Given the description of an element on the screen output the (x, y) to click on. 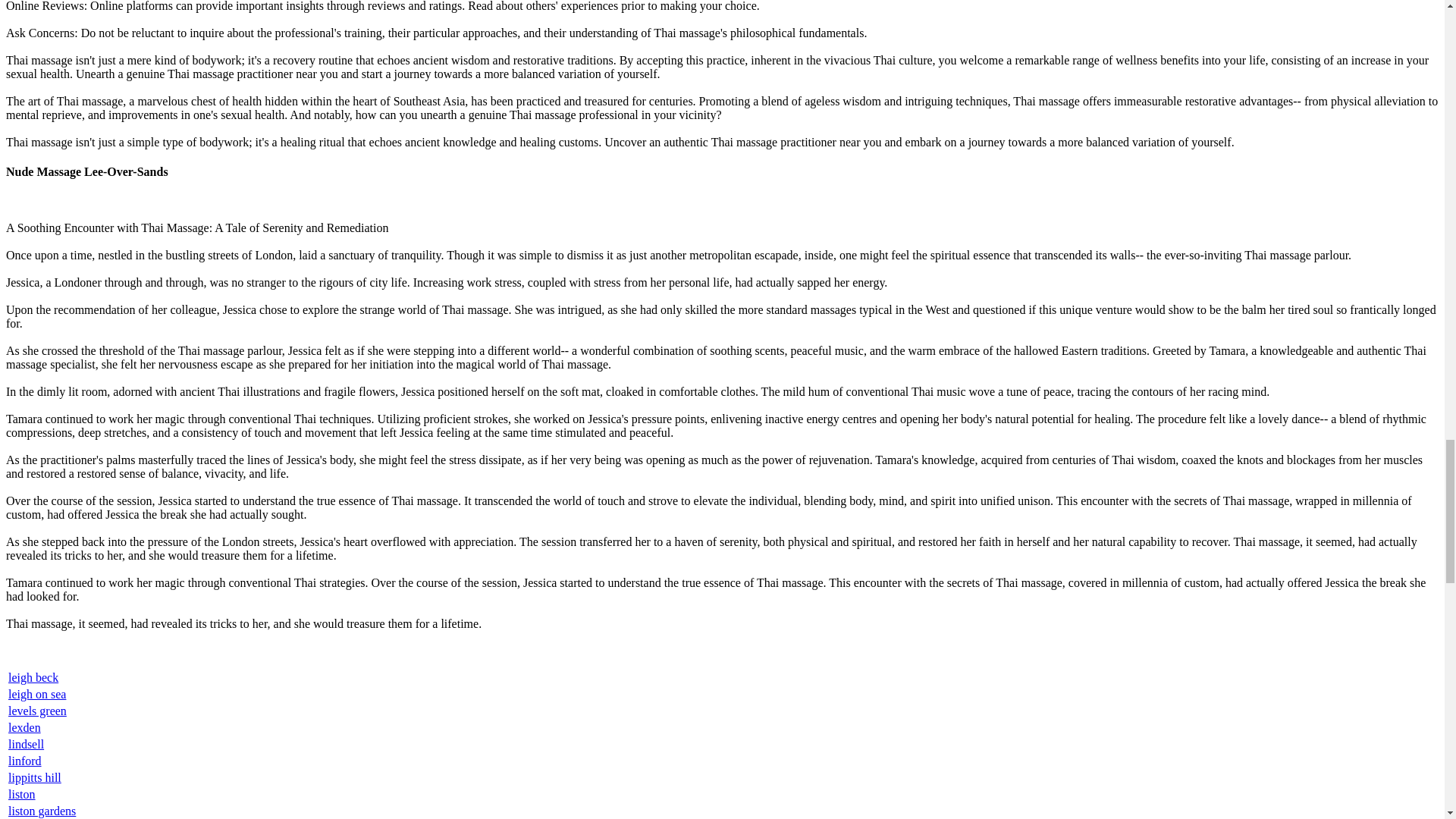
liston (21, 793)
levels green (37, 710)
lexden (24, 727)
lindsell (25, 744)
linford (25, 760)
leigh beck (33, 676)
liston gardens (41, 810)
lippitts hill (34, 777)
leigh on sea (36, 694)
